Given the description of an element on the screen output the (x, y) to click on. 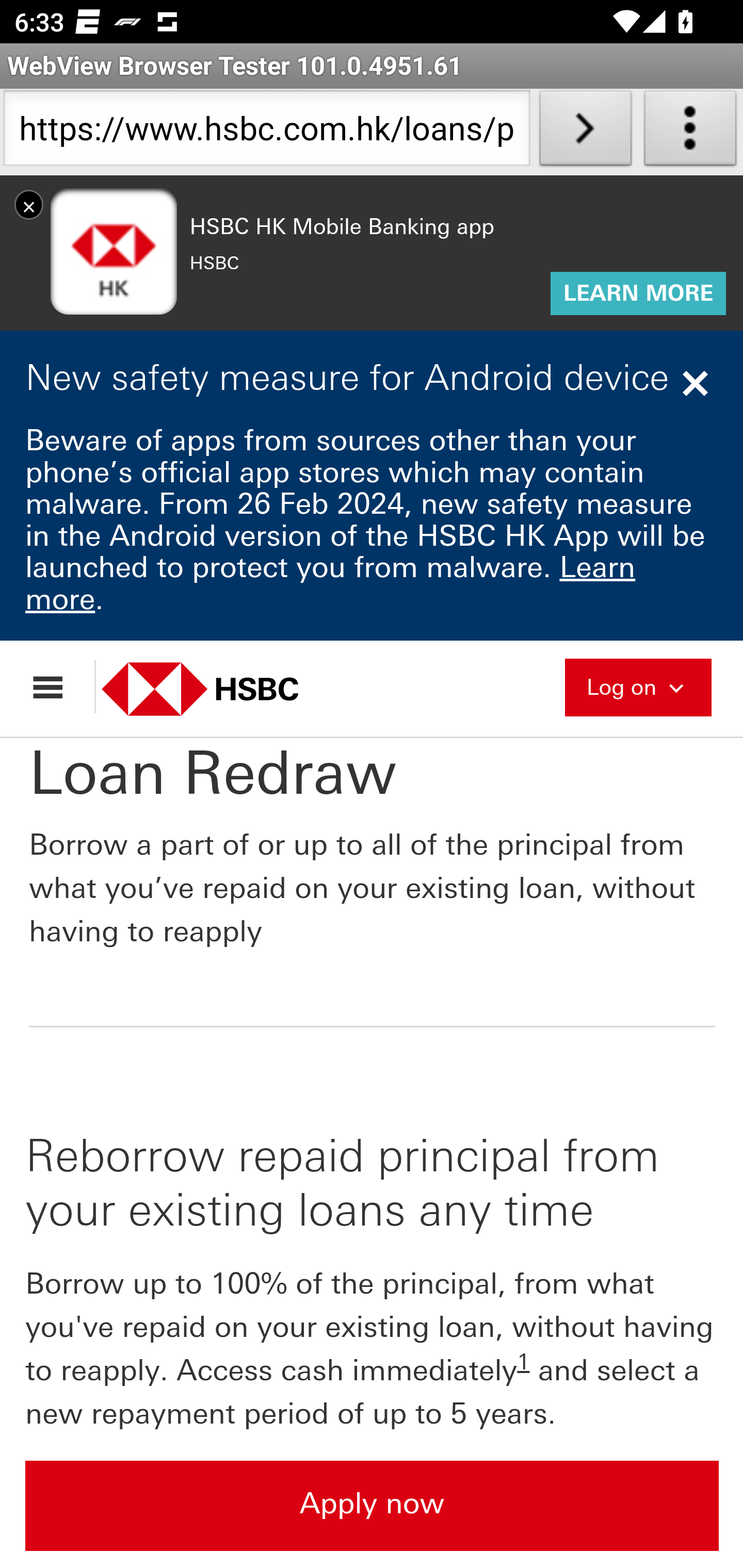
Load URL (585, 132)
About WebView (690, 132)
X (29, 204)
LEARN MORE (638, 293)
Close (697, 382)
Learn more (331, 582)
Log on Collapsed (638, 685)
Open menu (57, 686)
HSBC Hong Kong Bank (221, 688)
Apply now (372, 1505)
